Given the description of an element on the screen output the (x, y) to click on. 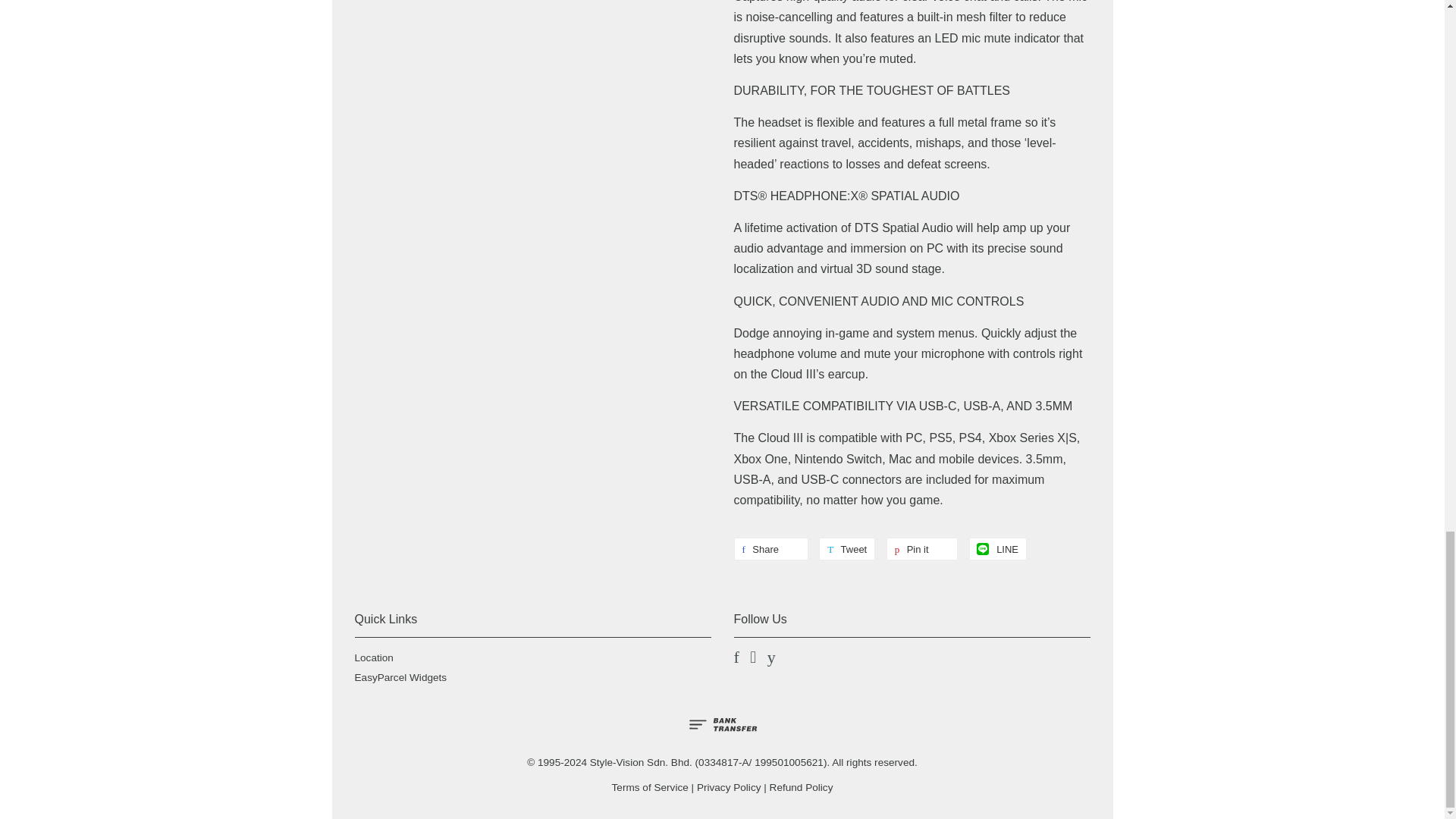
Style Vision Computer Store on Facebook (736, 659)
Style Vision Computer Store on Instagram (752, 659)
Style Vision Computer Store on YouTube (771, 659)
icon-line (982, 548)
